Given the description of an element on the screen output the (x, y) to click on. 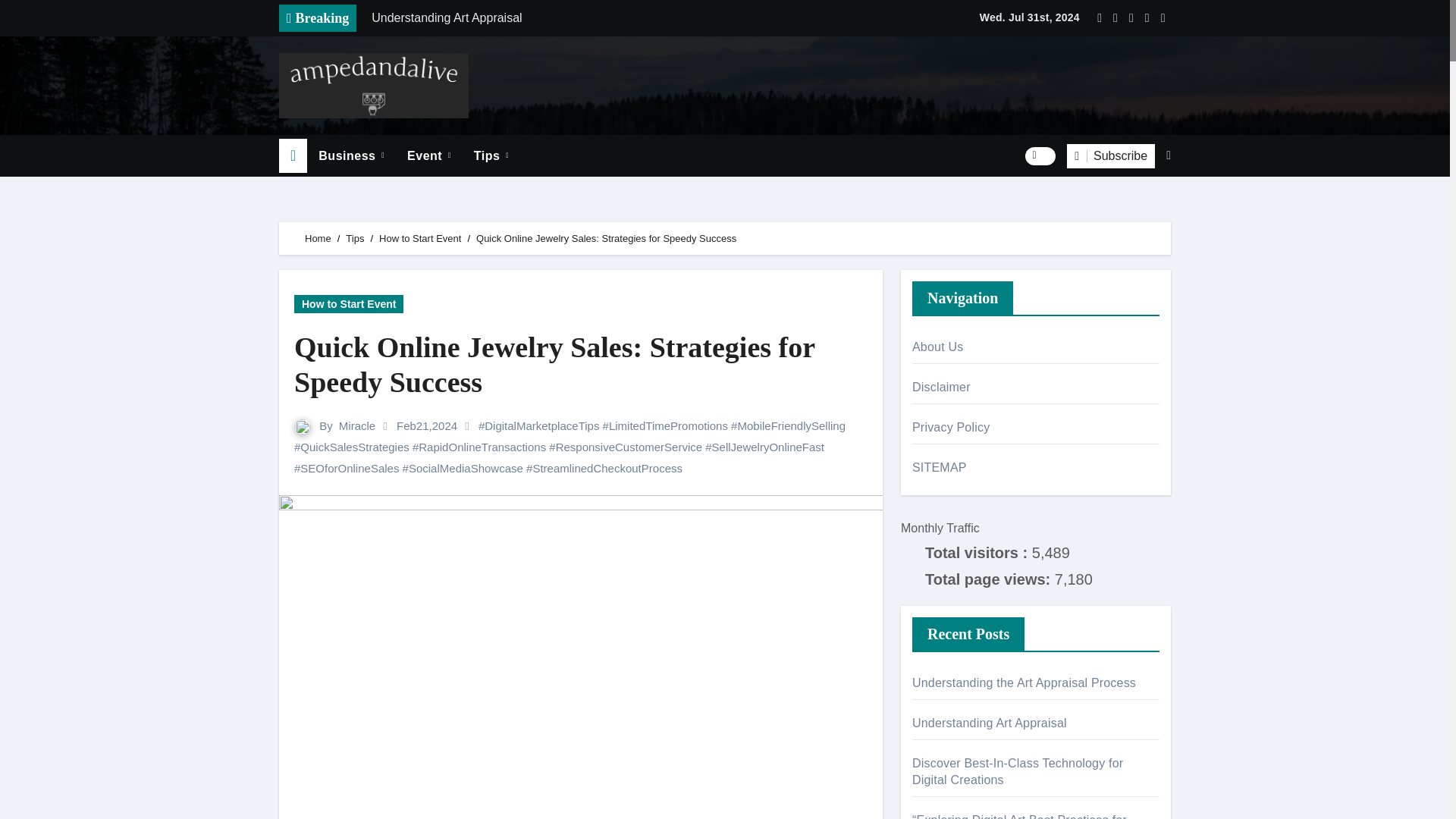
Understanding Art Appraisal (574, 18)
Event (429, 155)
Business (351, 155)
Quick Online Jewelry Sales: Strategies for Speedy Success (580, 364)
Tips (491, 155)
